Given the description of an element on the screen output the (x, y) to click on. 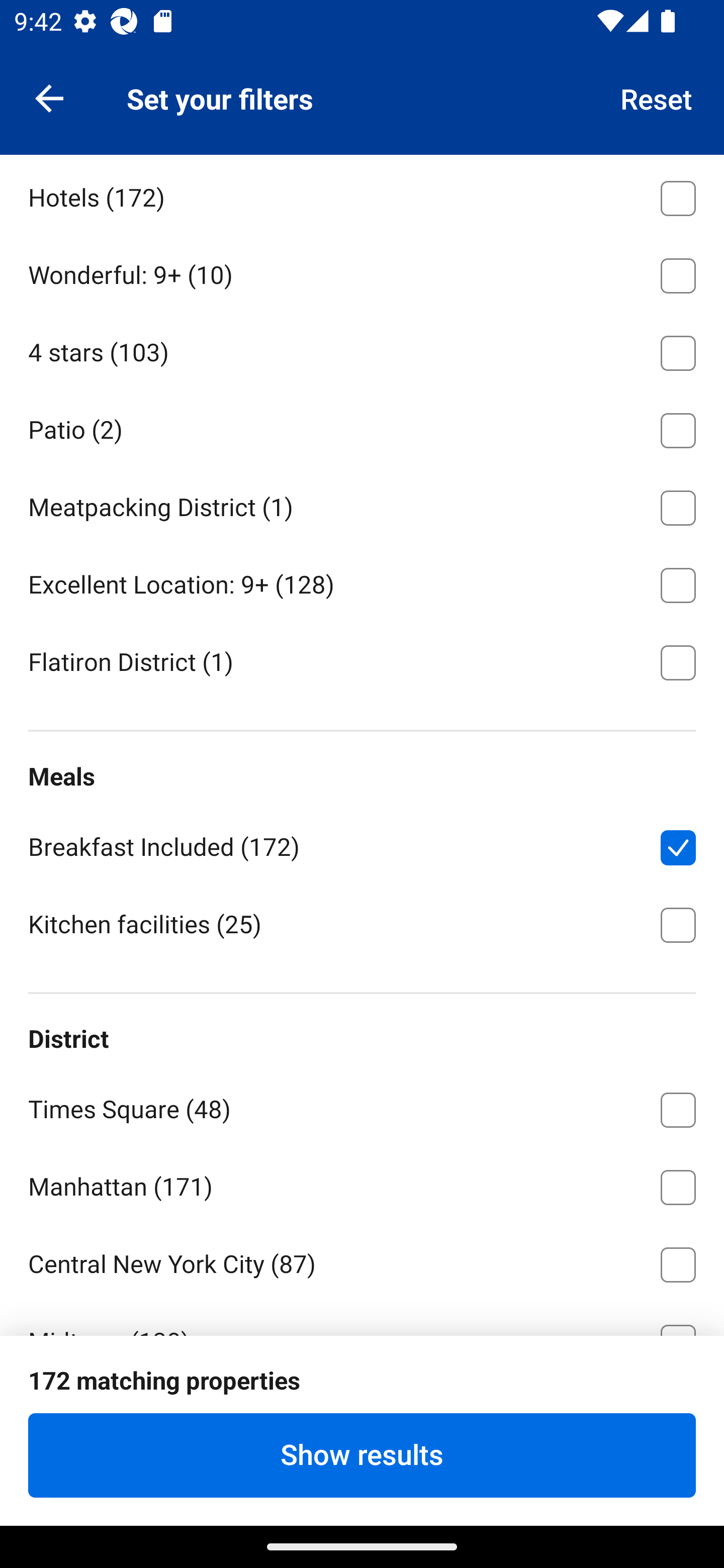
Navigate up (49, 97)
Reset (656, 97)
Hotels ⁦(172) (361, 194)
Wonderful: 9+ ⁦(10) (361, 271)
4 stars ⁦(103) (361, 349)
Patio ⁦(2) (361, 426)
Meatpacking District ⁦(1) (361, 503)
Excellent Location: 9+ ⁦(128) (361, 581)
Flatiron District ⁦(1) (361, 660)
Breakfast Included ⁦(172) (361, 843)
Kitchen facilities ⁦(25) (361, 923)
Times Square ⁦(48) (361, 1105)
Manhattan ⁦(171) (361, 1183)
Central New York City ⁦(87) (361, 1261)
Show results (361, 1454)
